Given the description of an element on the screen output the (x, y) to click on. 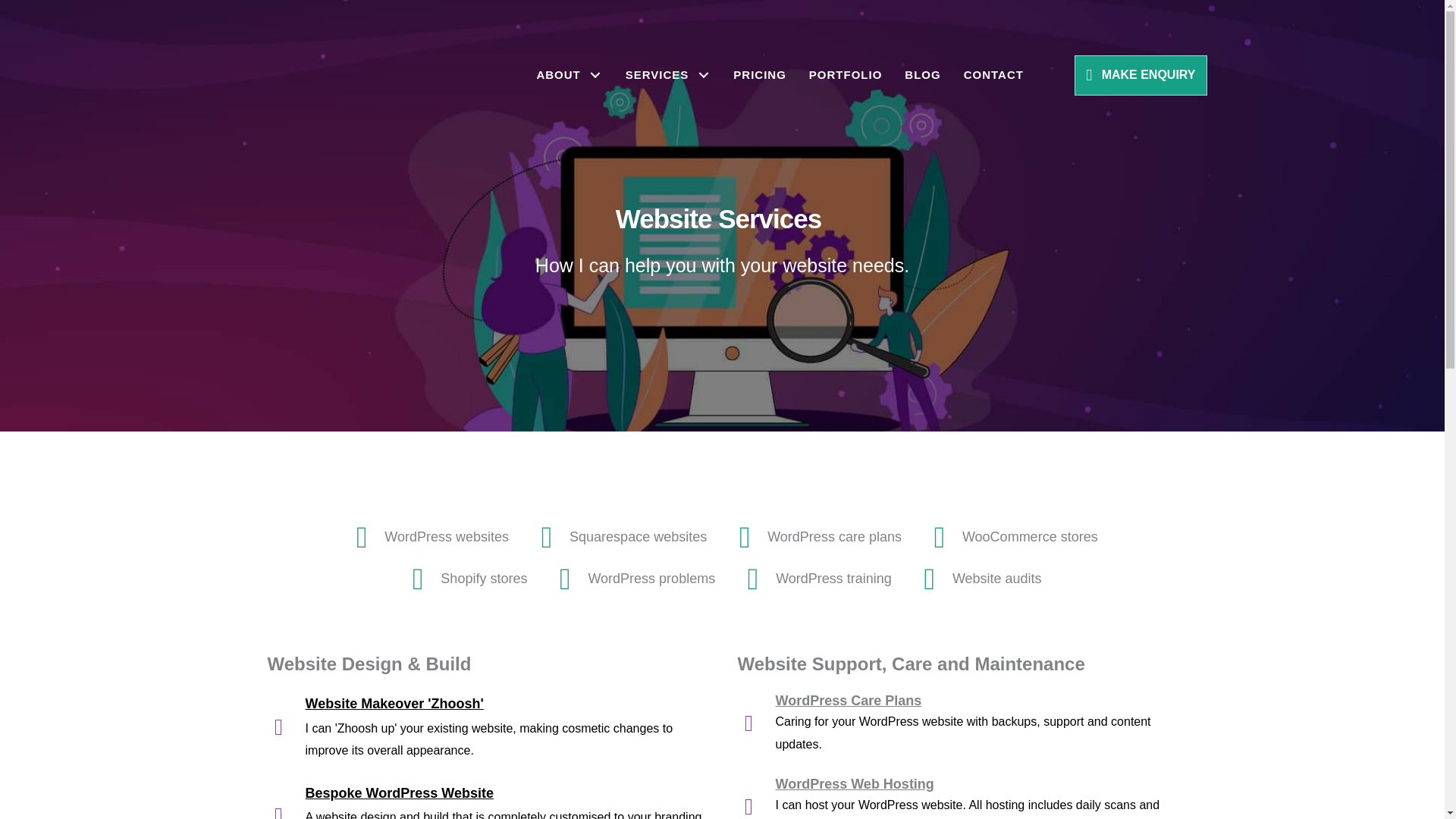
PRICING (759, 75)
SERVICES (668, 75)
BLOG (922, 75)
CONTACT (993, 75)
ABOUT (568, 75)
webmatters-logo-colourwm (353, 81)
PORTFOLIO (845, 75)
